Given the description of an element on the screen output the (x, y) to click on. 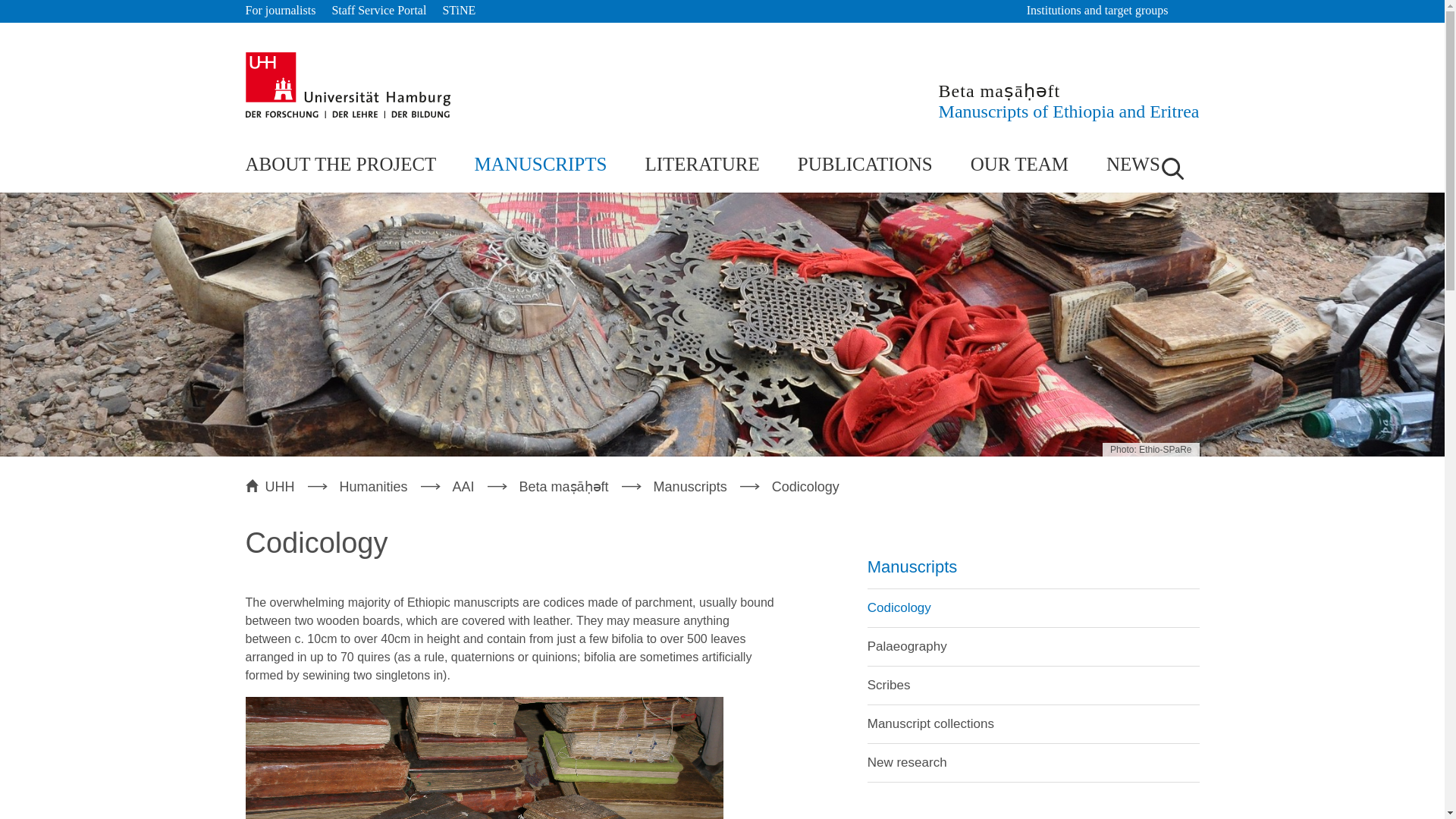
Staff Service Portal (378, 11)
Institutions and target groups (1104, 11)
Page logo: Home (1069, 101)
For journalists (280, 11)
Home (347, 84)
STiNE (459, 11)
